Given the description of an element on the screen output the (x, y) to click on. 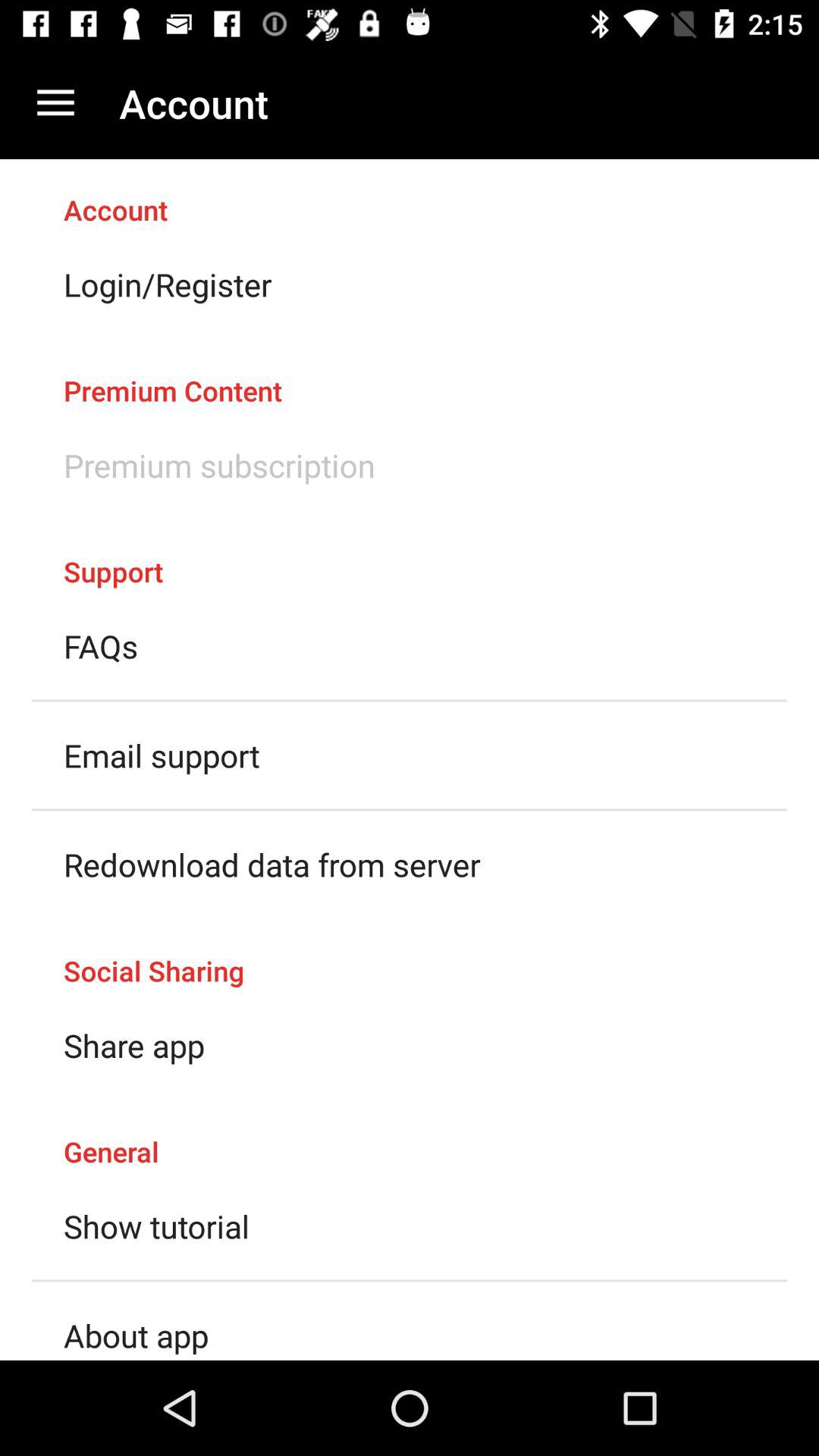
launch item to the left of account item (55, 103)
